Given the description of an element on the screen output the (x, y) to click on. 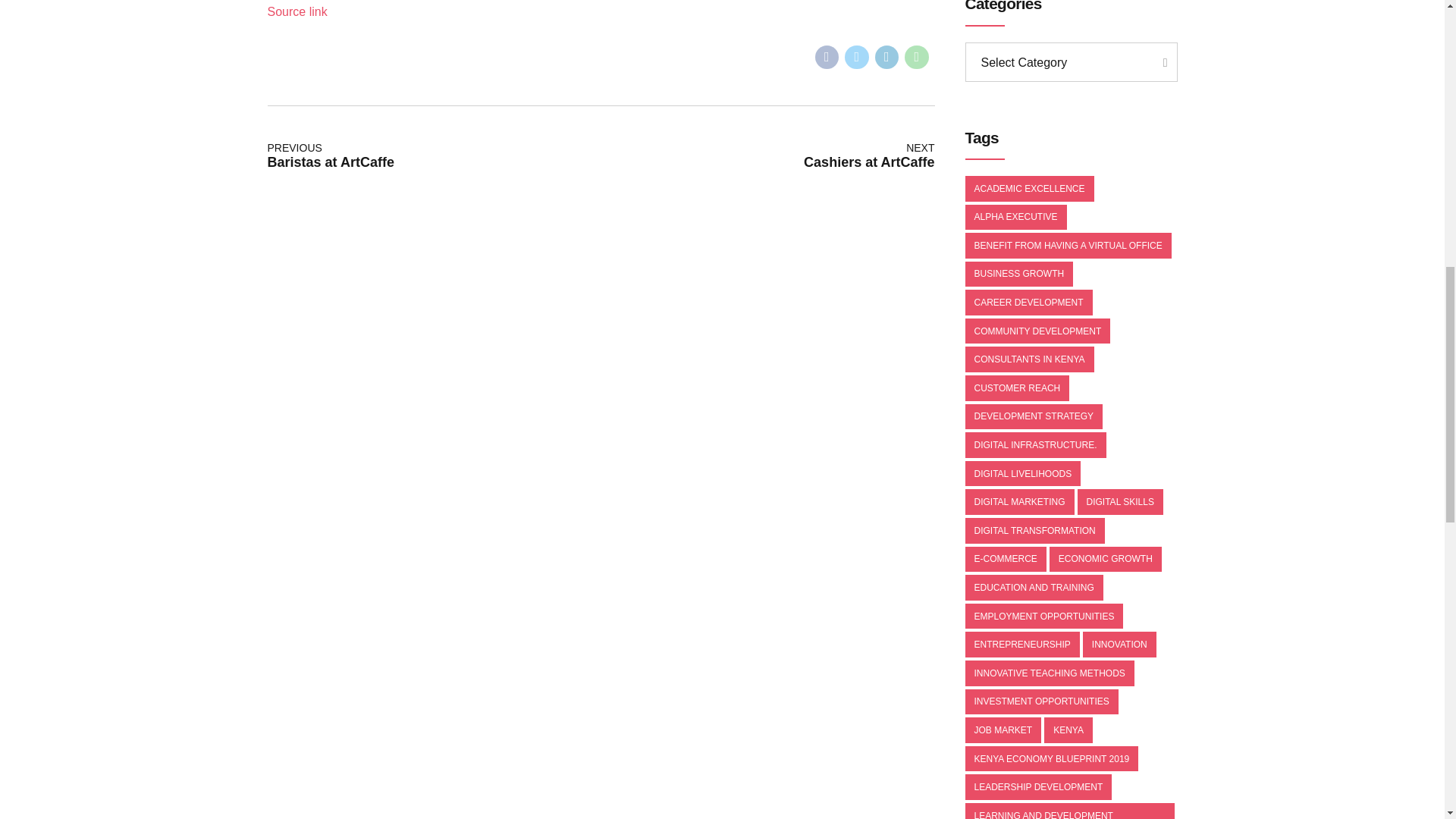
DIGITAL INFRASTRUCTURE. (1034, 444)
Share on Facebook (825, 57)
DEVELOPMENT STRATEGY (1032, 416)
BENEFIT FROM HAVING A VIRTUAL OFFICE (1066, 245)
Share on WhatsApp (916, 57)
ACADEMIC EXCELLENCE (1028, 188)
COMMUNITY DEVELOPMENT (1036, 330)
CAREER DEVELOPMENT (1027, 302)
CUSTOMER REACH (1015, 388)
Share on Twitter (856, 57)
CONSULTANTS IN KENYA (1028, 359)
Share on Linkedin (887, 57)
ALPHA EXECUTIVE (1014, 217)
